Given the description of an element on the screen output the (x, y) to click on. 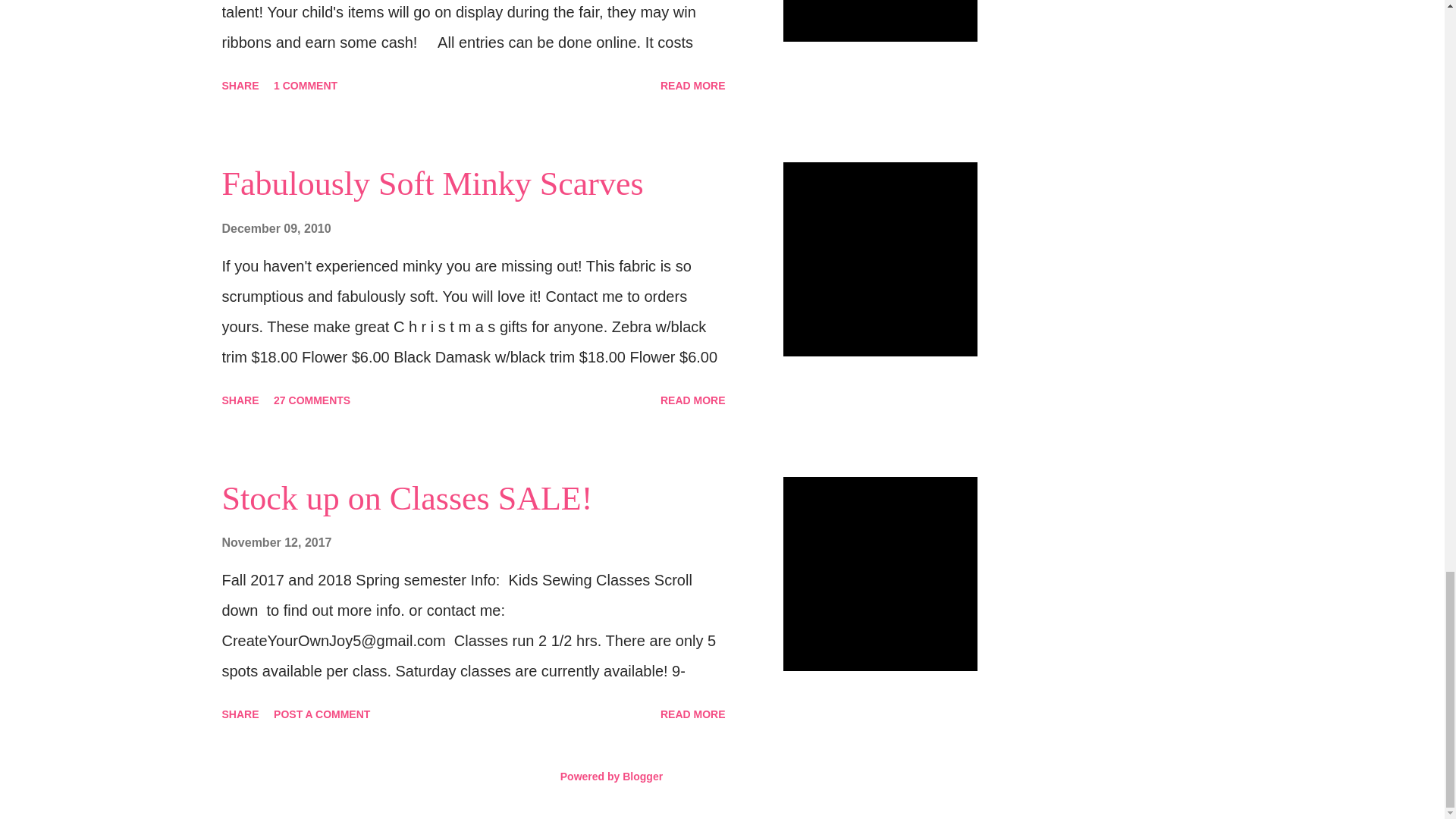
December 09, 2010 (275, 228)
SHARE (239, 713)
Fabulously Soft Minky Scarves (432, 183)
Stock up on Classes SALE! (406, 497)
READ MORE (692, 400)
1 COMMENT (305, 85)
SHARE (239, 85)
November 12, 2017 (276, 542)
SHARE (239, 400)
READ MORE (692, 85)
READ MORE (692, 713)
27 COMMENTS (311, 400)
POST A COMMENT (321, 713)
